Given the description of an element on the screen output the (x, y) to click on. 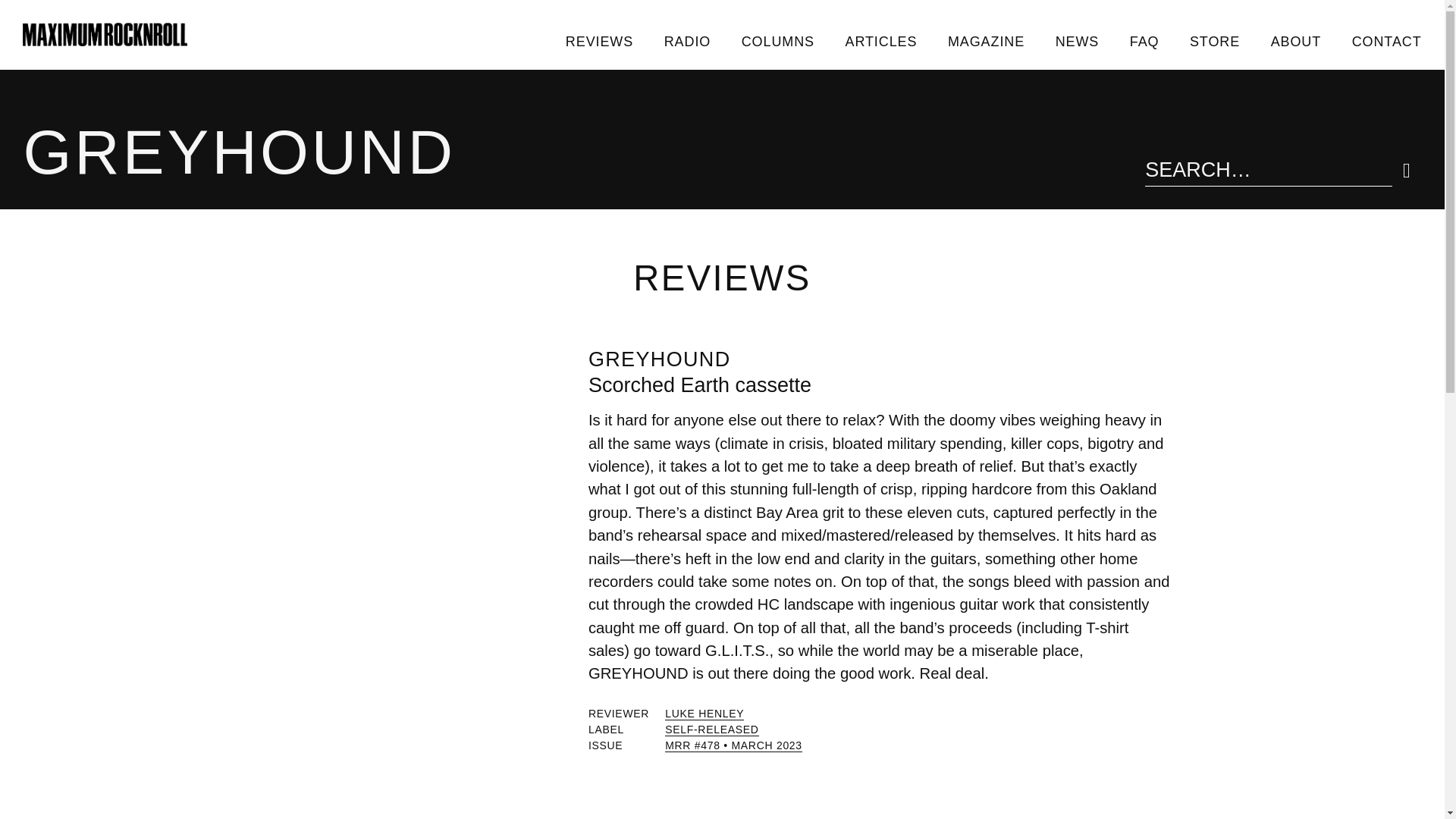
FAQ (1143, 41)
ABOUT (1295, 41)
REVIEWS (599, 41)
CONTACT (1385, 41)
COLUMNS (777, 41)
SELF-RELEASED (711, 729)
LUKE HENLEY (704, 713)
RADIO (686, 41)
NEWS (1076, 41)
GREYHOUND (659, 359)
